Given the description of an element on the screen output the (x, y) to click on. 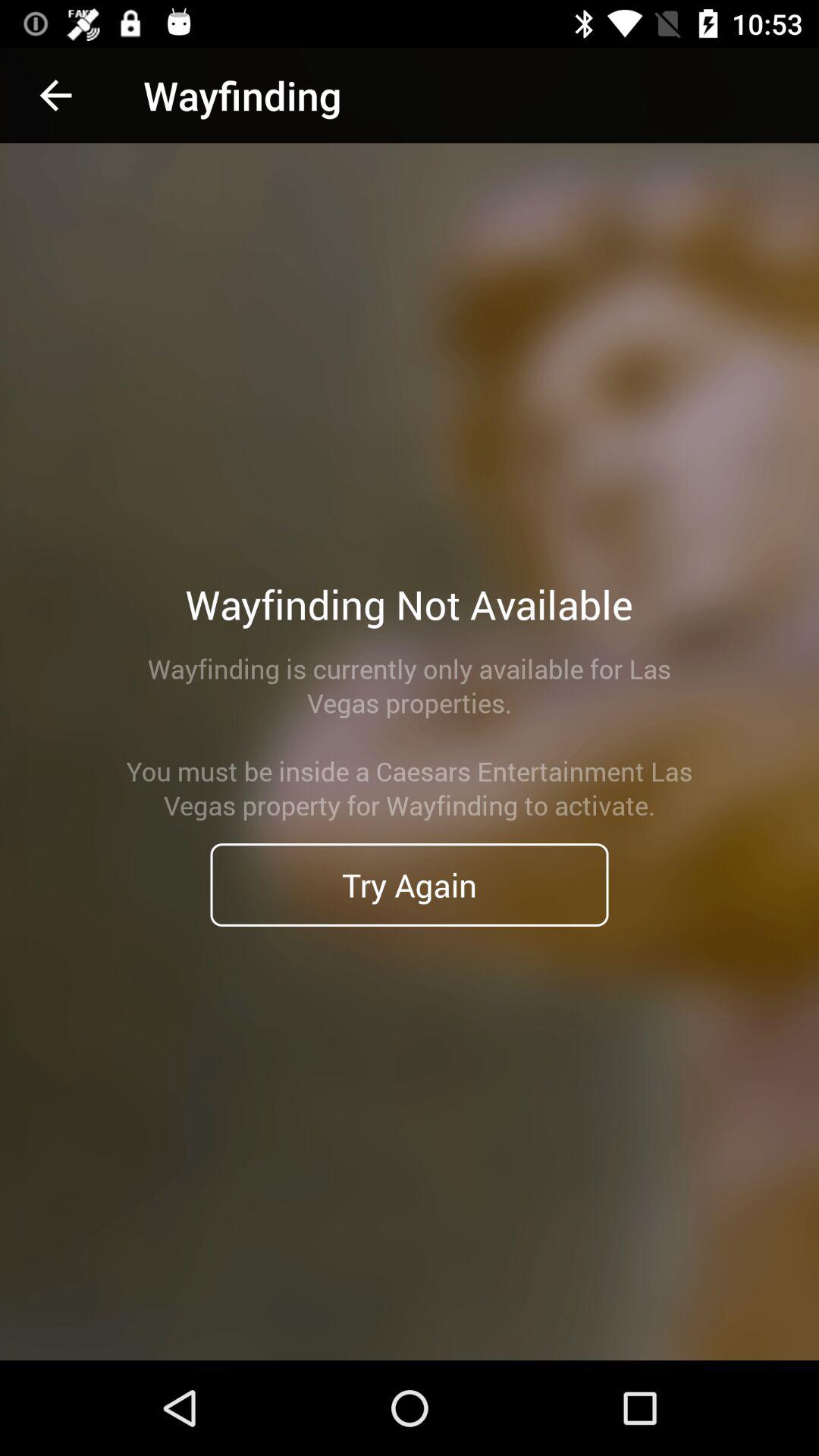
turn on the item below the wayfinding is currently item (409, 884)
